Given the description of an element on the screen output the (x, y) to click on. 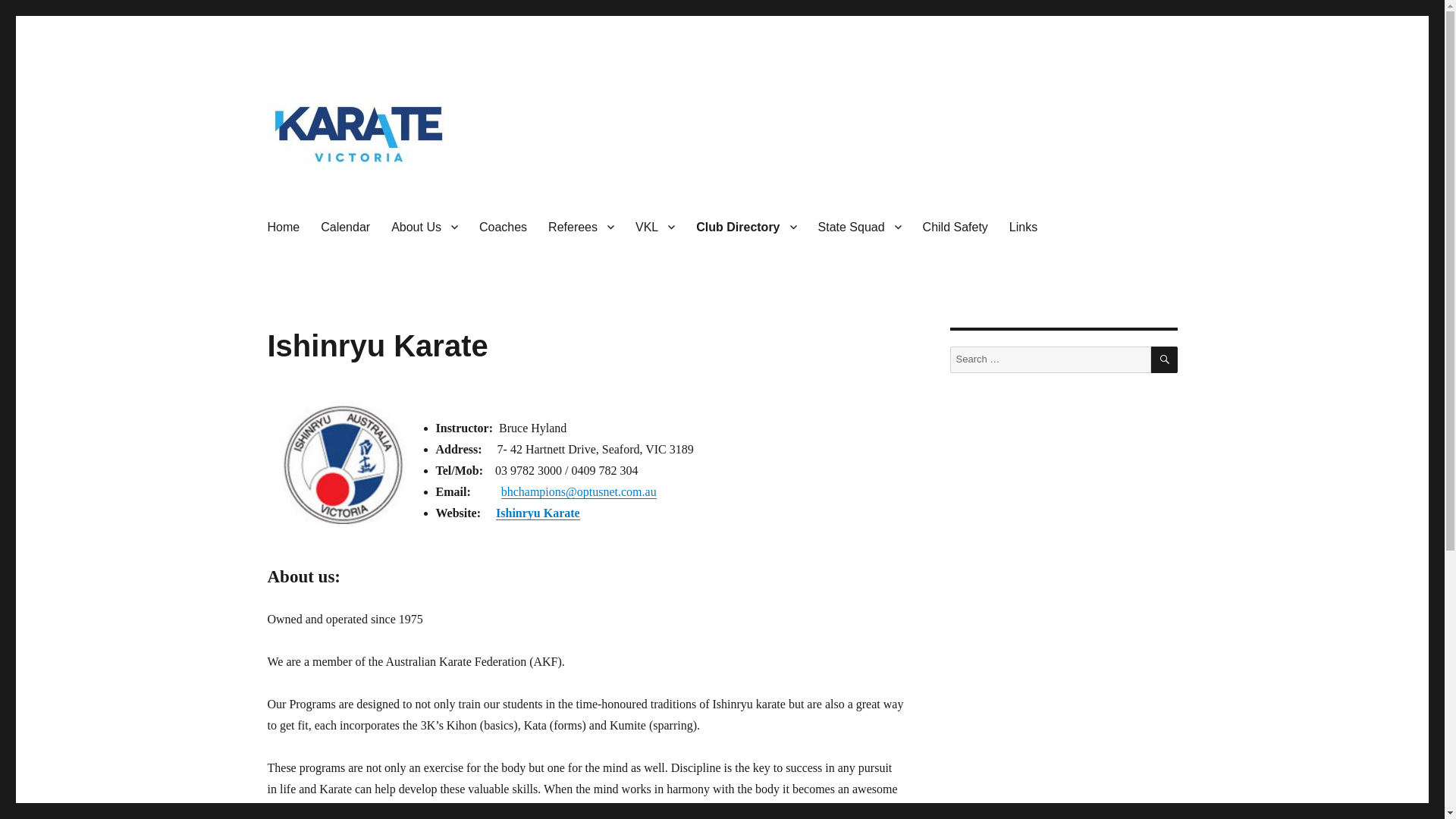
Coaches (502, 226)
About Us (424, 226)
Referees (580, 226)
Club Directory (745, 226)
Calendar (345, 226)
Karate Victoria (341, 191)
VKL (654, 226)
Home (283, 226)
